Given the description of an element on the screen output the (x, y) to click on. 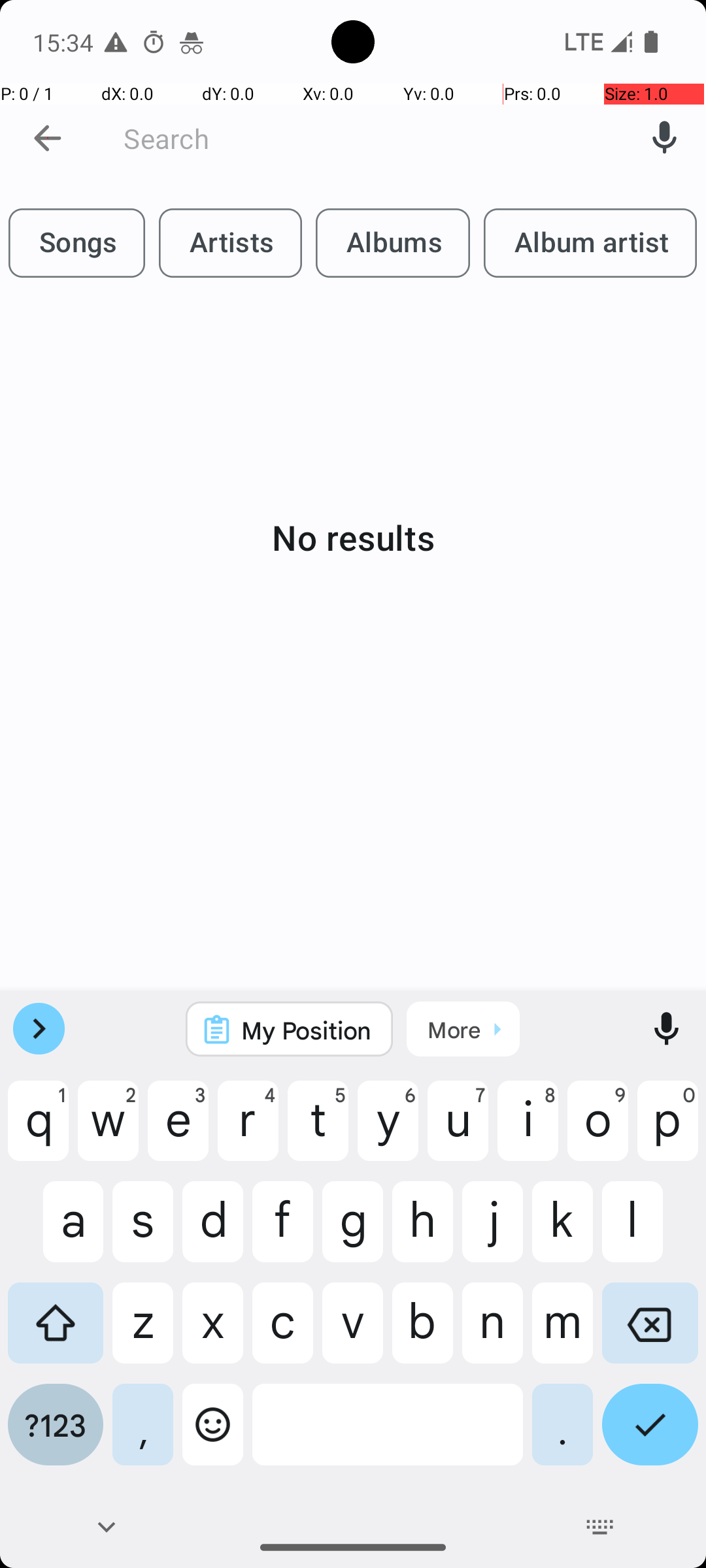
No results Element type: android.widget.TextView (352, 537)
Album artist Element type: android.widget.RadioButton (589, 242)
